Given the description of an element on the screen output the (x, y) to click on. 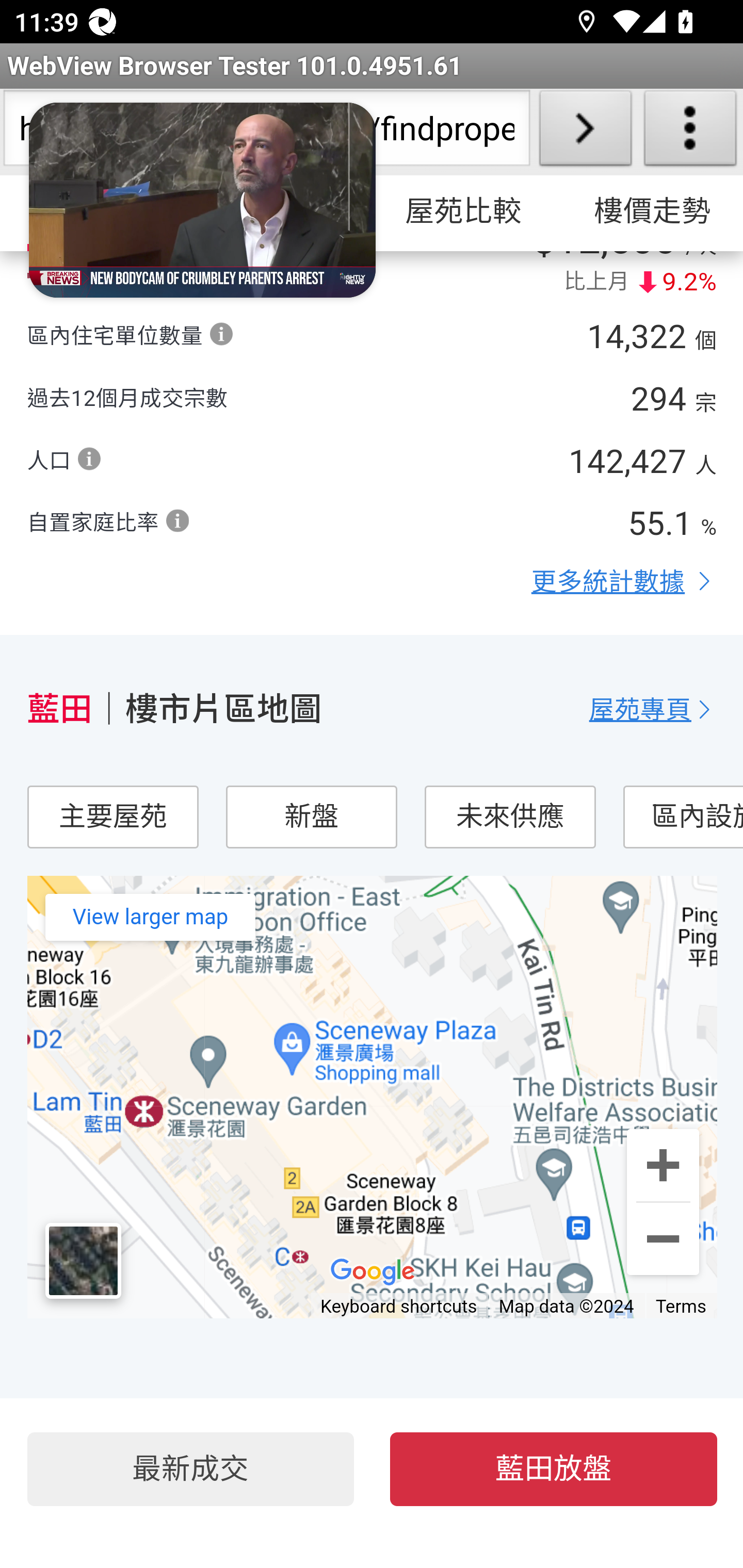
Load URL (585, 132)
About WebView (690, 132)
屋苑比較 (463, 212)
樓價走勢 (649, 212)
更多統計數據  (624, 582)
屋苑專頁  屋苑專頁  (653, 710)
主要屋苑 (112, 817)
新盤 (310, 817)
未來供應 (508, 817)
View larger map (150, 917)
Zoom in (662, 1165)
Zoom out (662, 1239)
Show satellite imagery (82, 1261)
Keyboard shortcuts (398, 1308)
Terms (680, 1308)
最新成交 (190, 1469)
藍田放盤 (554, 1469)
